Given the description of an element on the screen output the (x, y) to click on. 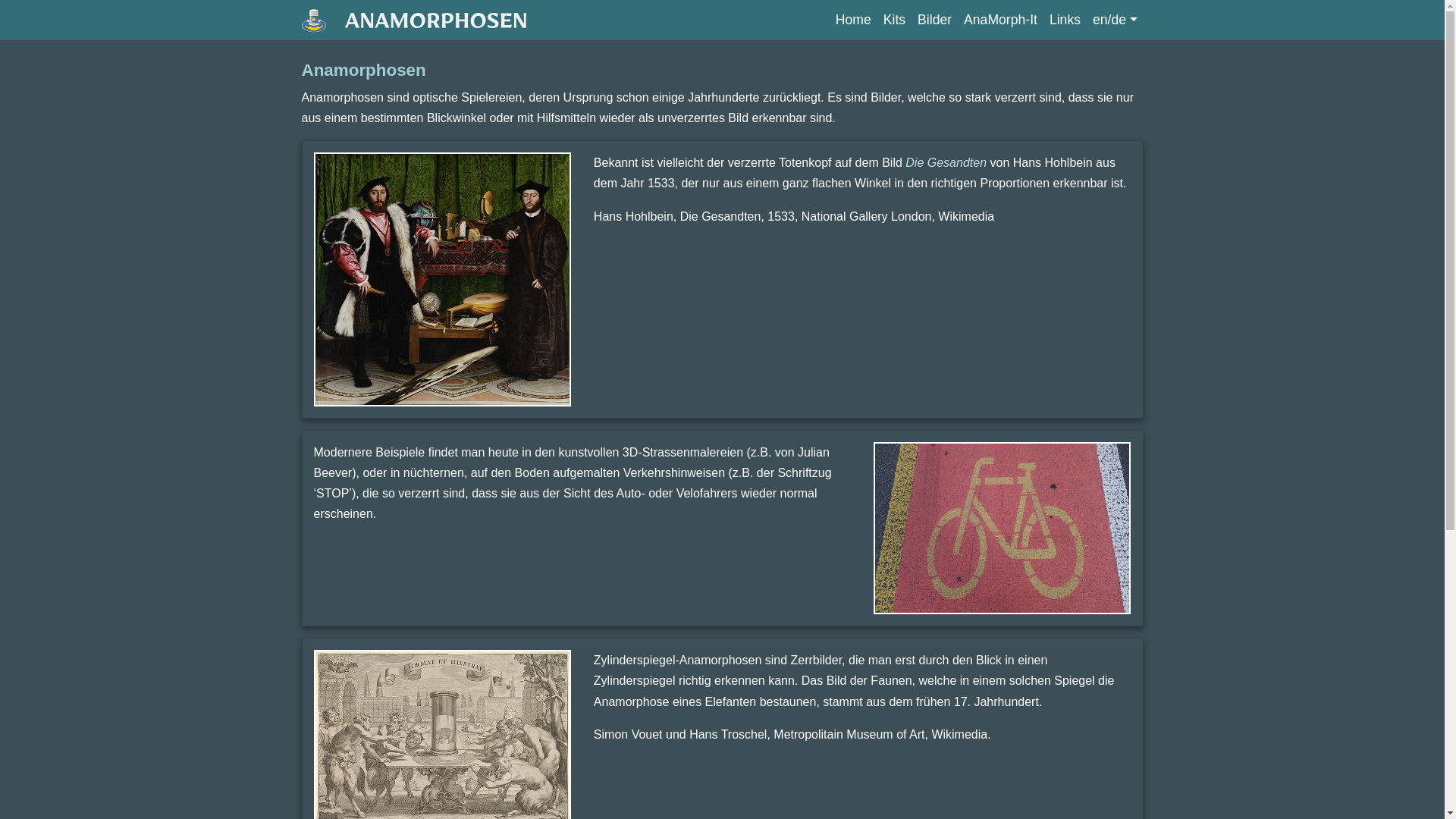
Kits Element type: text (894, 19)
Links Element type: text (1064, 19)
Home Element type: text (853, 19)
AnaMorph-It Element type: text (1000, 19)
en/de Element type: text (1114, 19)
Bilder Element type: text (934, 19)
